Given the description of an element on the screen output the (x, y) to click on. 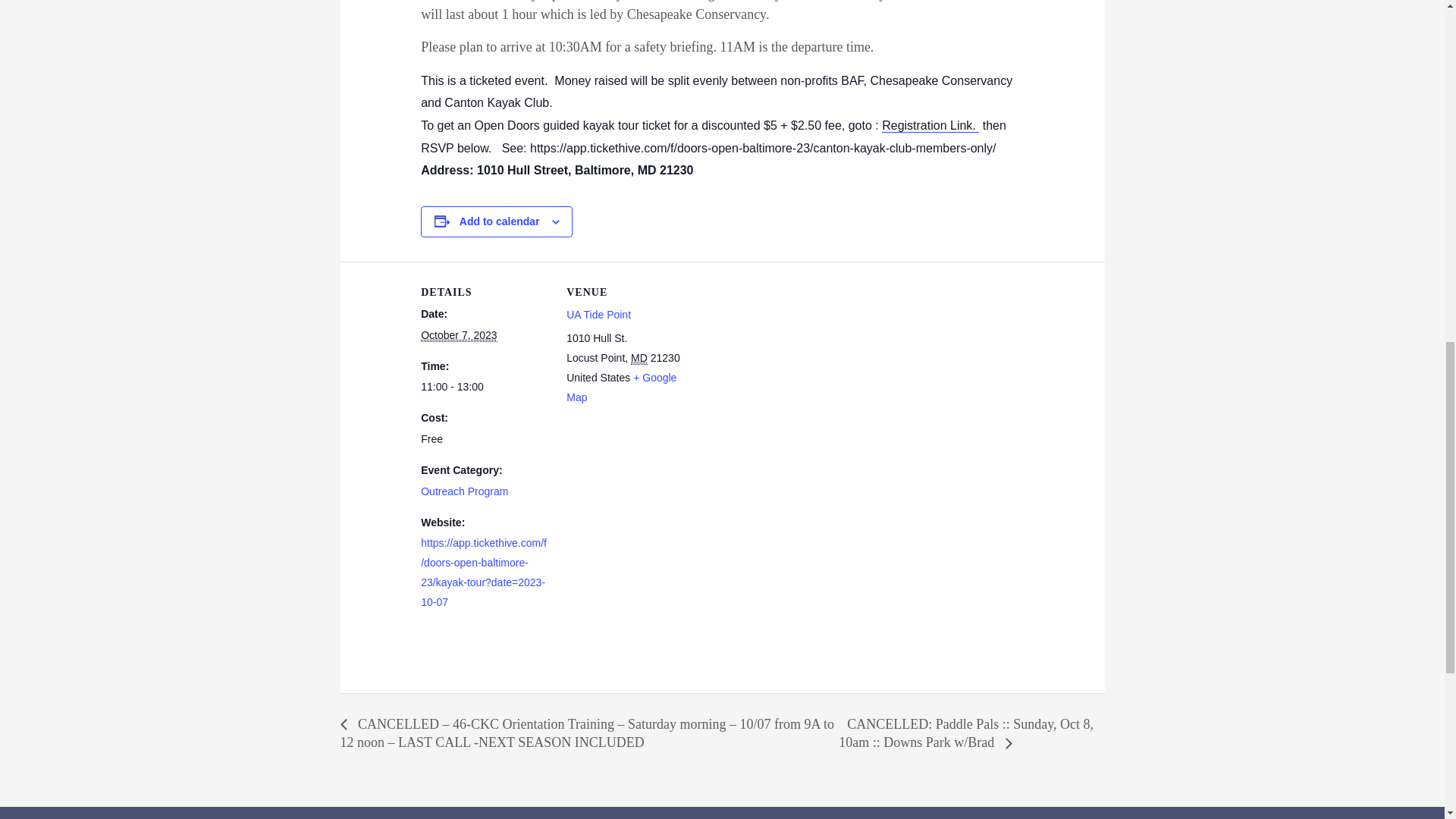
2023-10-07 (458, 335)
2023-10-07 (484, 387)
Google maps iframe displaying the address to UA Tide Point (791, 366)
Click to view a Google Map (621, 387)
Maryland (638, 358)
